Given the description of an element on the screen output the (x, y) to click on. 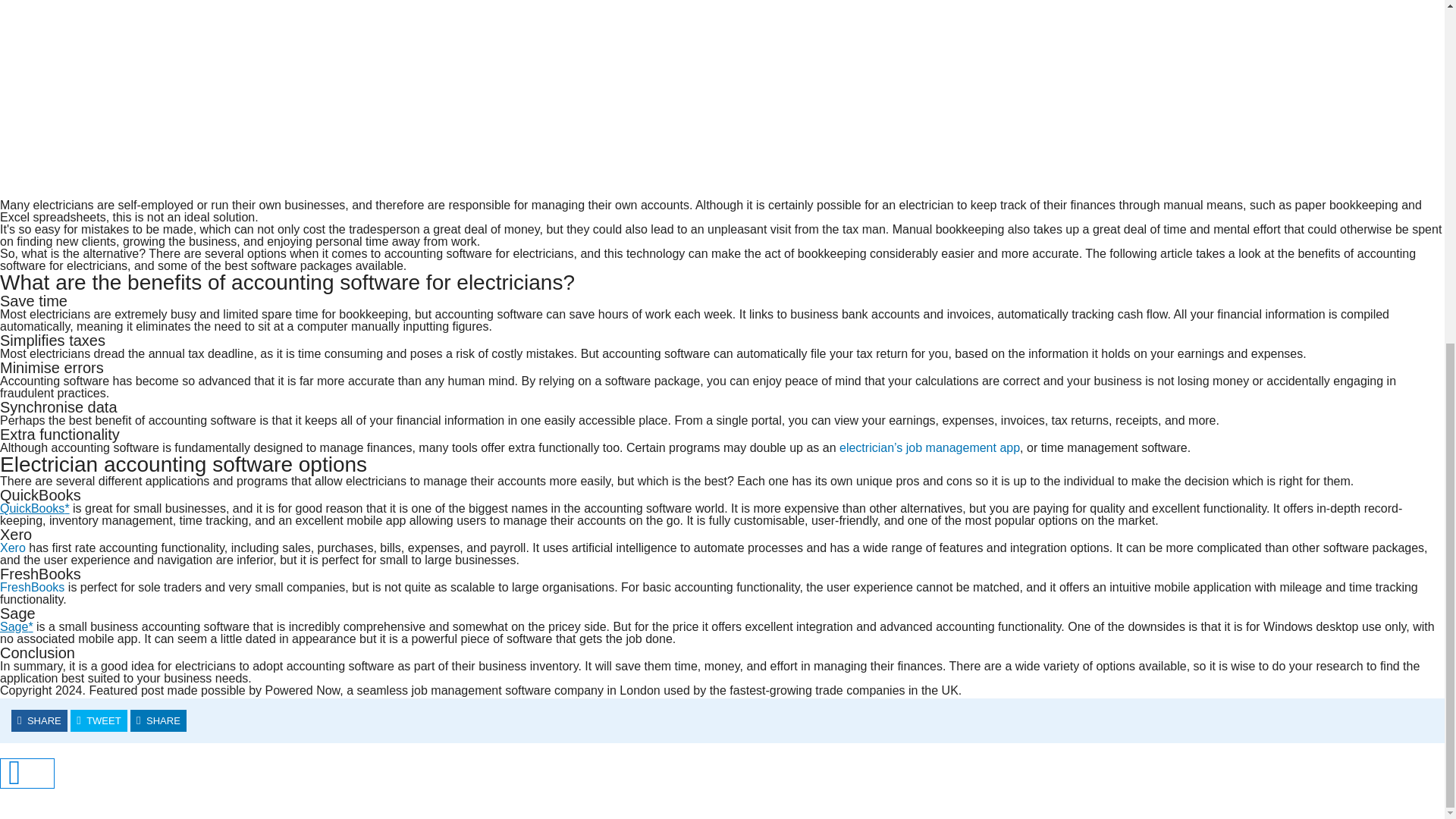
Powered Now  (930, 447)
QuickBooks (34, 508)
Sage (16, 626)
Xero (13, 547)
FreshBooks (32, 586)
